Given the description of an element on the screen output the (x, y) to click on. 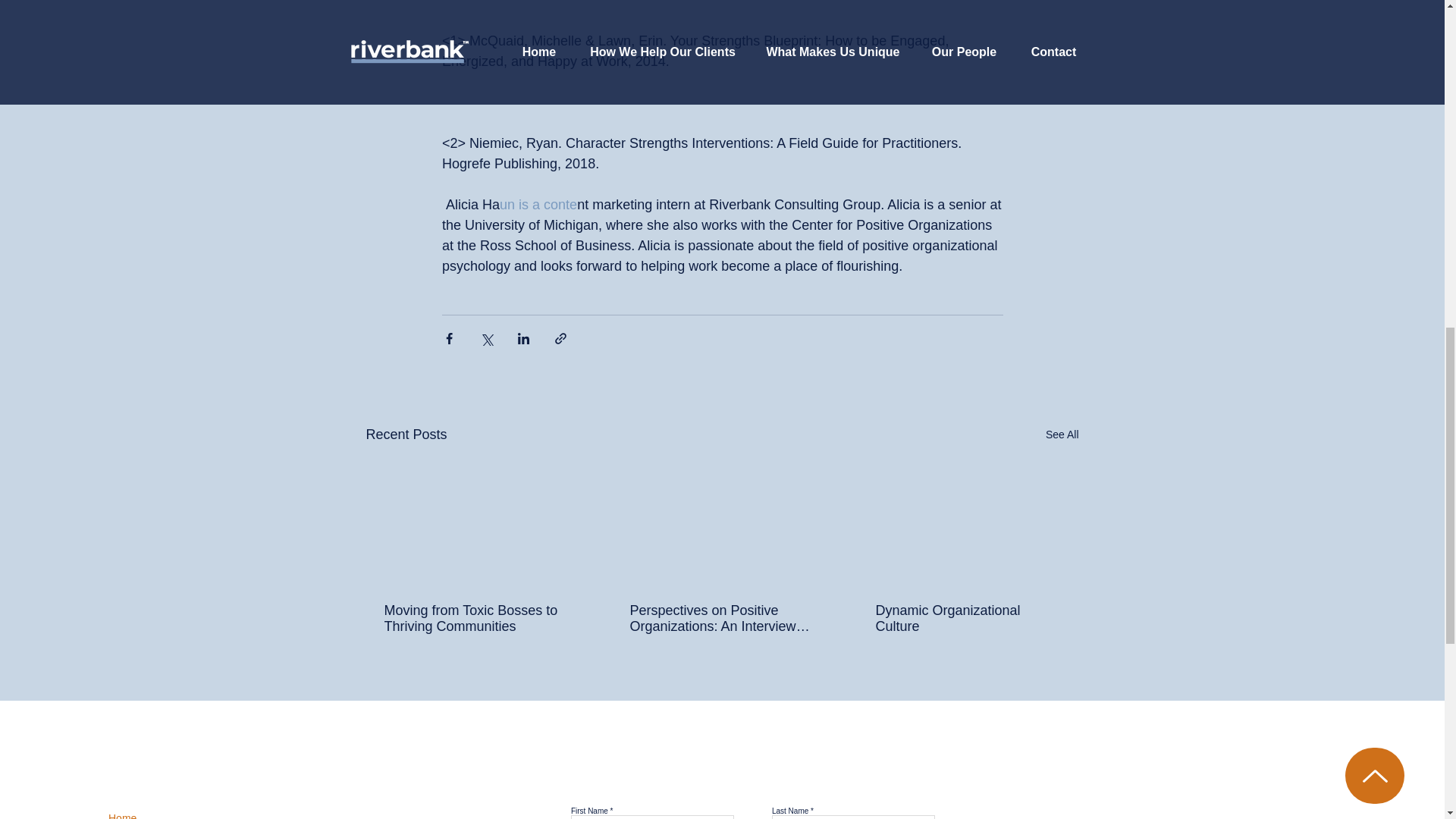
Dynamic Organizational Culture (966, 618)
un is a conte (537, 204)
See All (1061, 434)
Moving from Toxic Bosses to Thriving Communities (475, 618)
Home (121, 815)
